Given the description of an element on the screen output the (x, y) to click on. 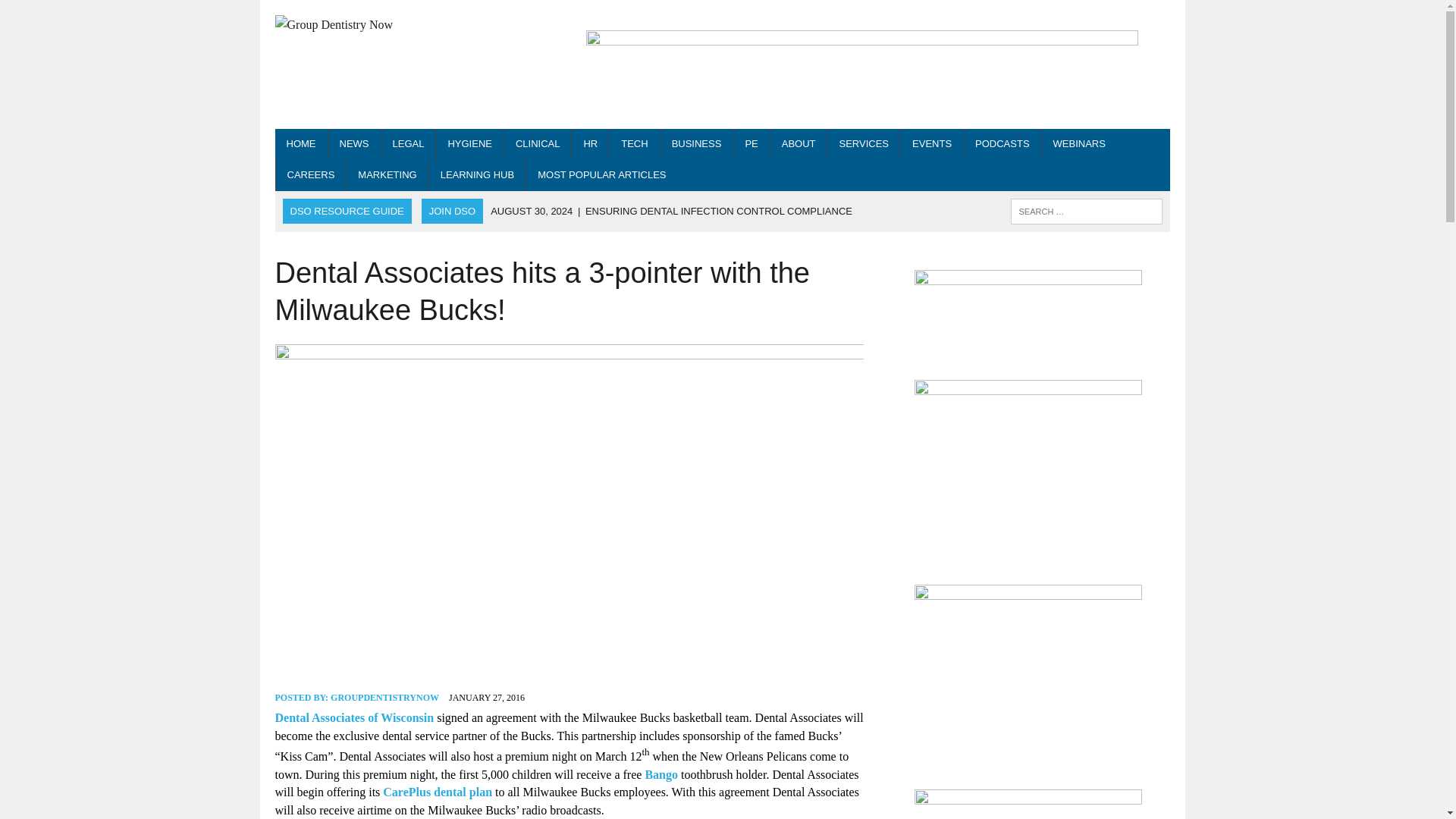
HOME (300, 143)
CLINICAL (537, 143)
TECH (634, 143)
HYGIENE (469, 143)
EVENTS (931, 143)
BUSINESS (697, 143)
NEWS (353, 143)
SERVICES (864, 143)
LEGAL (407, 143)
